Given the description of an element on the screen output the (x, y) to click on. 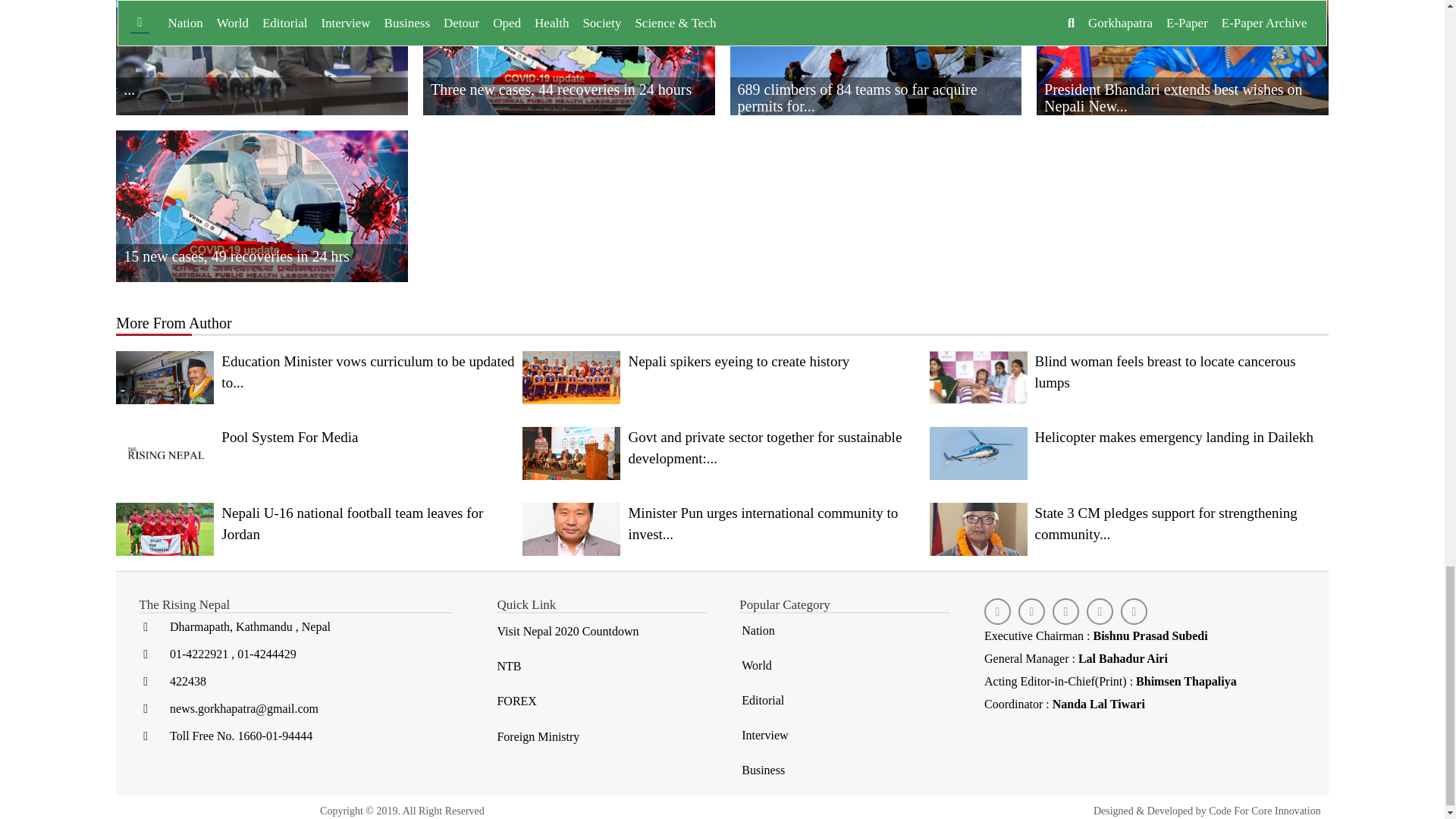
Pool System For Media (315, 452)
15 new cases, 49 recoveries in 24 hrs (261, 239)
Three new cases, 44 recoveries in 24 hours (568, 72)
Education Minister vows curriculum to be updated to... (315, 377)
689 climbers of 84 teams so far acquire permits for... (875, 72)
Nepali spikers eyeing to create history (721, 377)
... (261, 72)
